Given the description of an element on the screen output the (x, y) to click on. 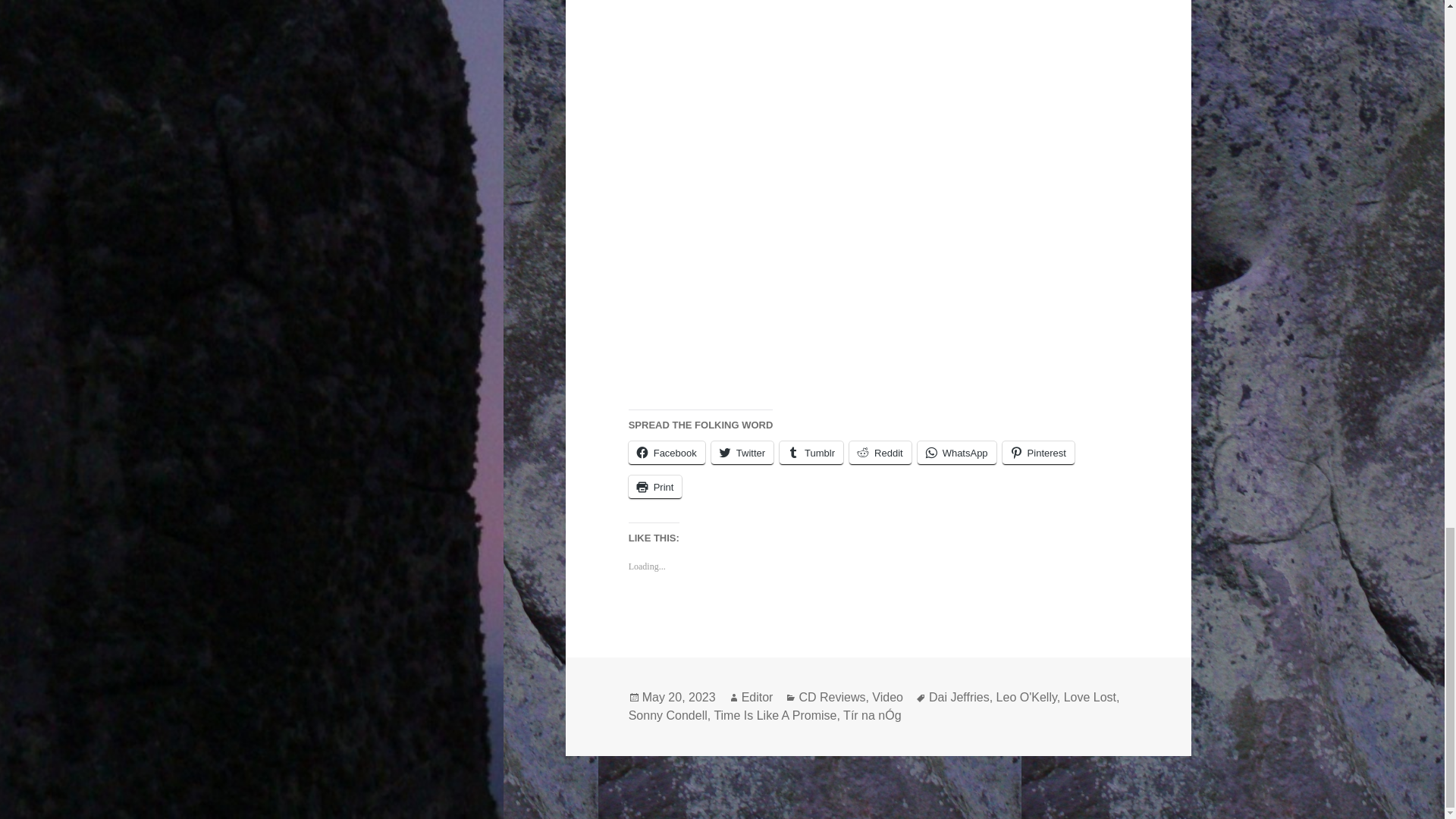
WhatsApp (956, 453)
Editor (757, 697)
Facebook (666, 453)
Leo O'Kelly (1026, 697)
Pinterest (1038, 453)
Click to share on WhatsApp (956, 453)
Print (655, 486)
Twitter (742, 453)
Video (887, 697)
Click to print (655, 486)
